Given the description of an element on the screen output the (x, y) to click on. 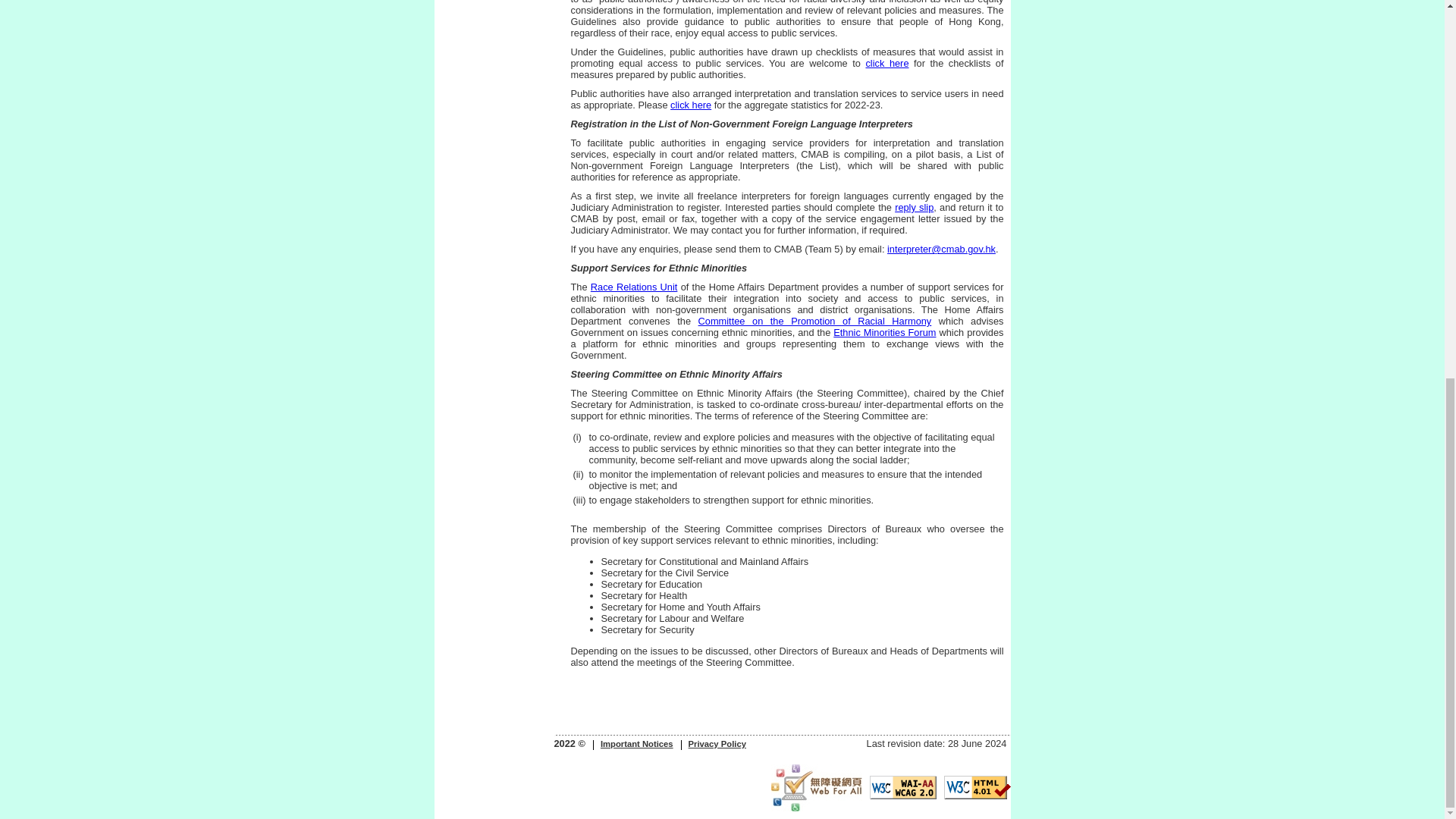
This link will open in a new window (634, 286)
Valid HTML 4.01 (976, 787)
Web Accessibility Recognition Scheme (815, 787)
This link will open in a new window (914, 206)
WCAG 2.0 AA (902, 787)
This link will open in a new window (814, 320)
This link will open in a new window (884, 332)
